Given the description of an element on the screen output the (x, y) to click on. 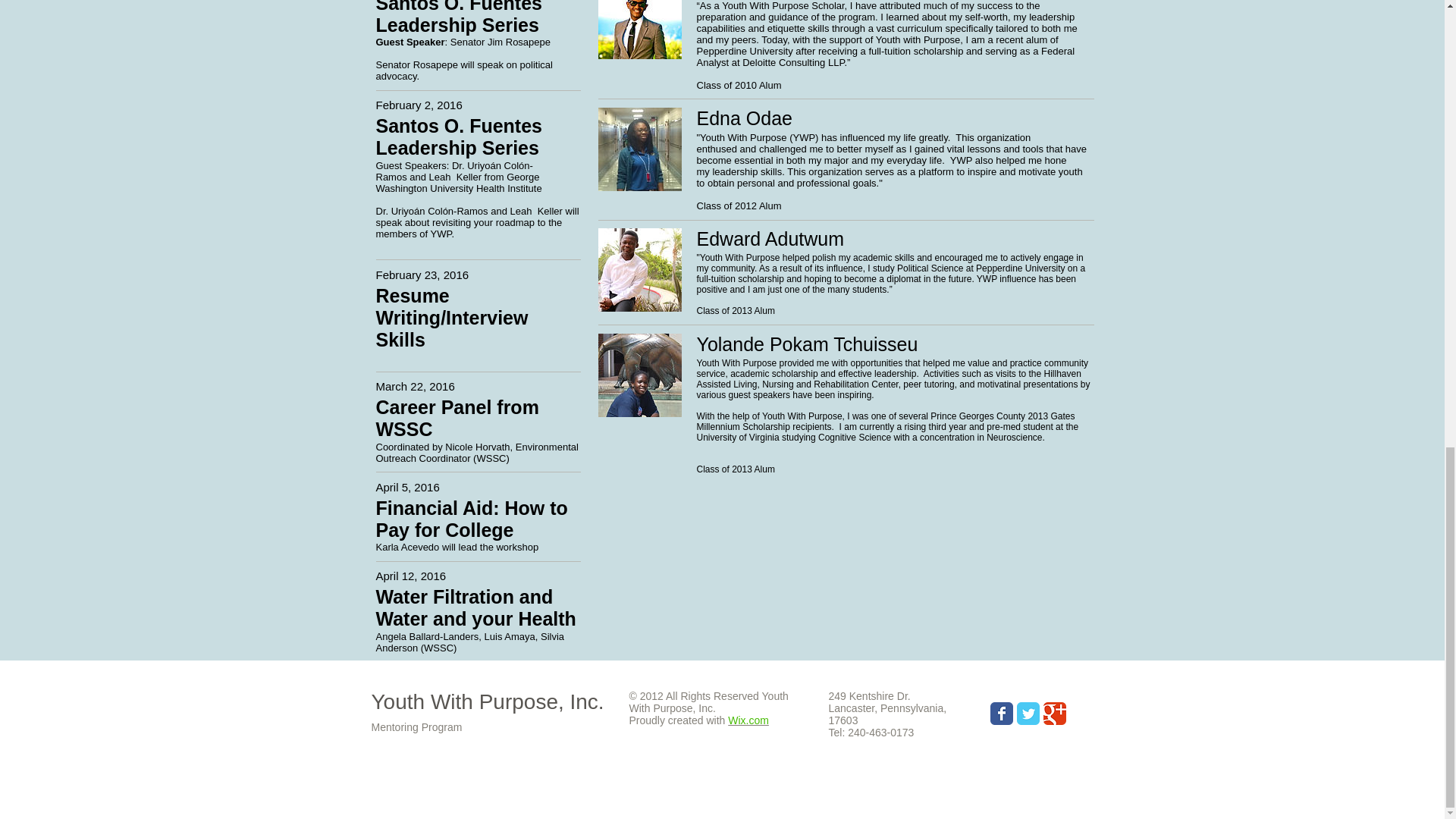
Ed Ad.JPG (638, 270)
Wix.com (748, 720)
Youth With Purpose, Inc (484, 701)
Mentoring Program (417, 727)
